Given the description of an element on the screen output the (x, y) to click on. 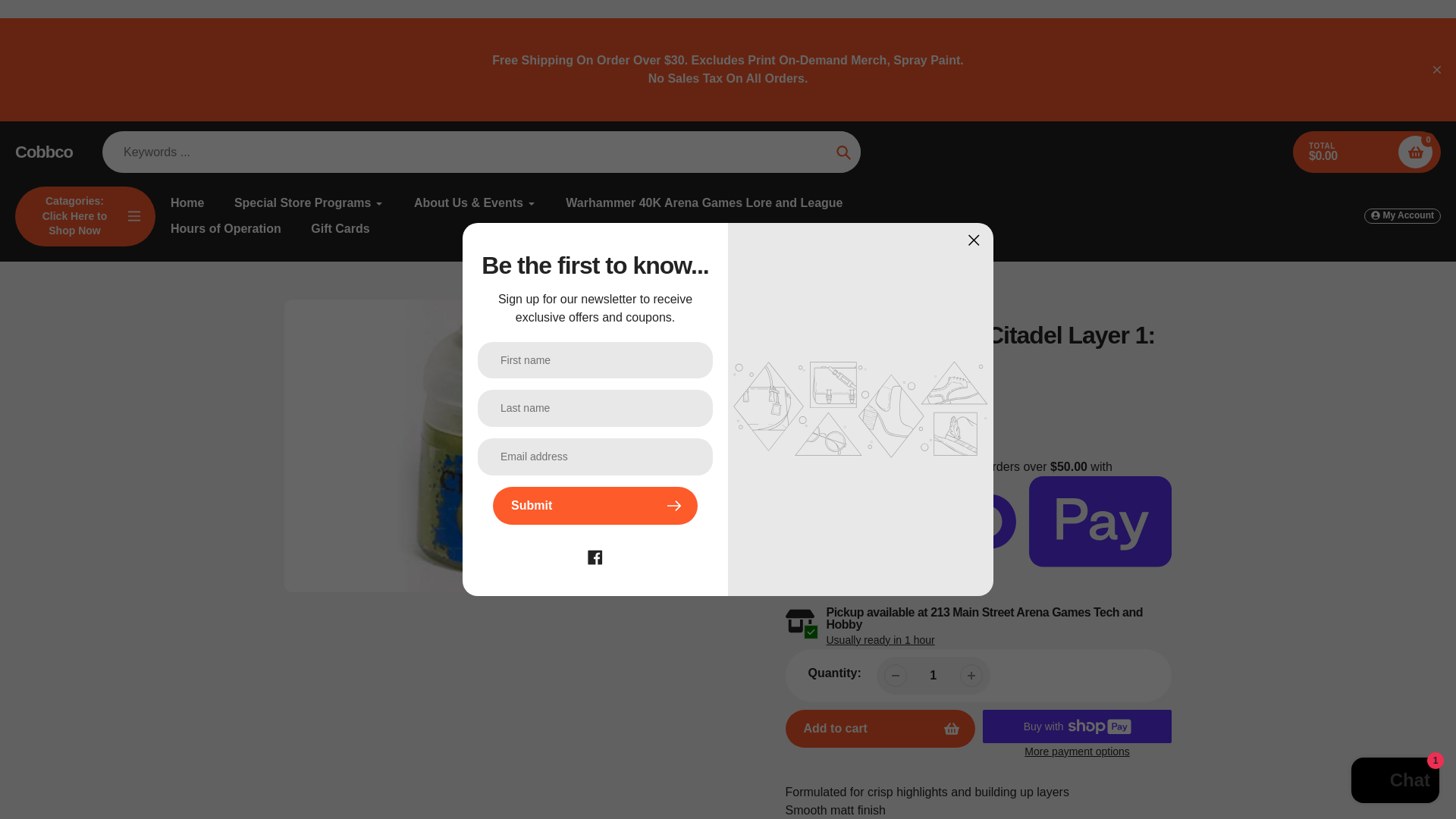
Games Workshop (828, 385)
Facebook (595, 555)
Shopify online store chat (1395, 781)
1 (933, 675)
Catagories: Click Here to Shop Now (84, 216)
0 (1414, 151)
Cobbco (43, 152)
